Given the description of an element on the screen output the (x, y) to click on. 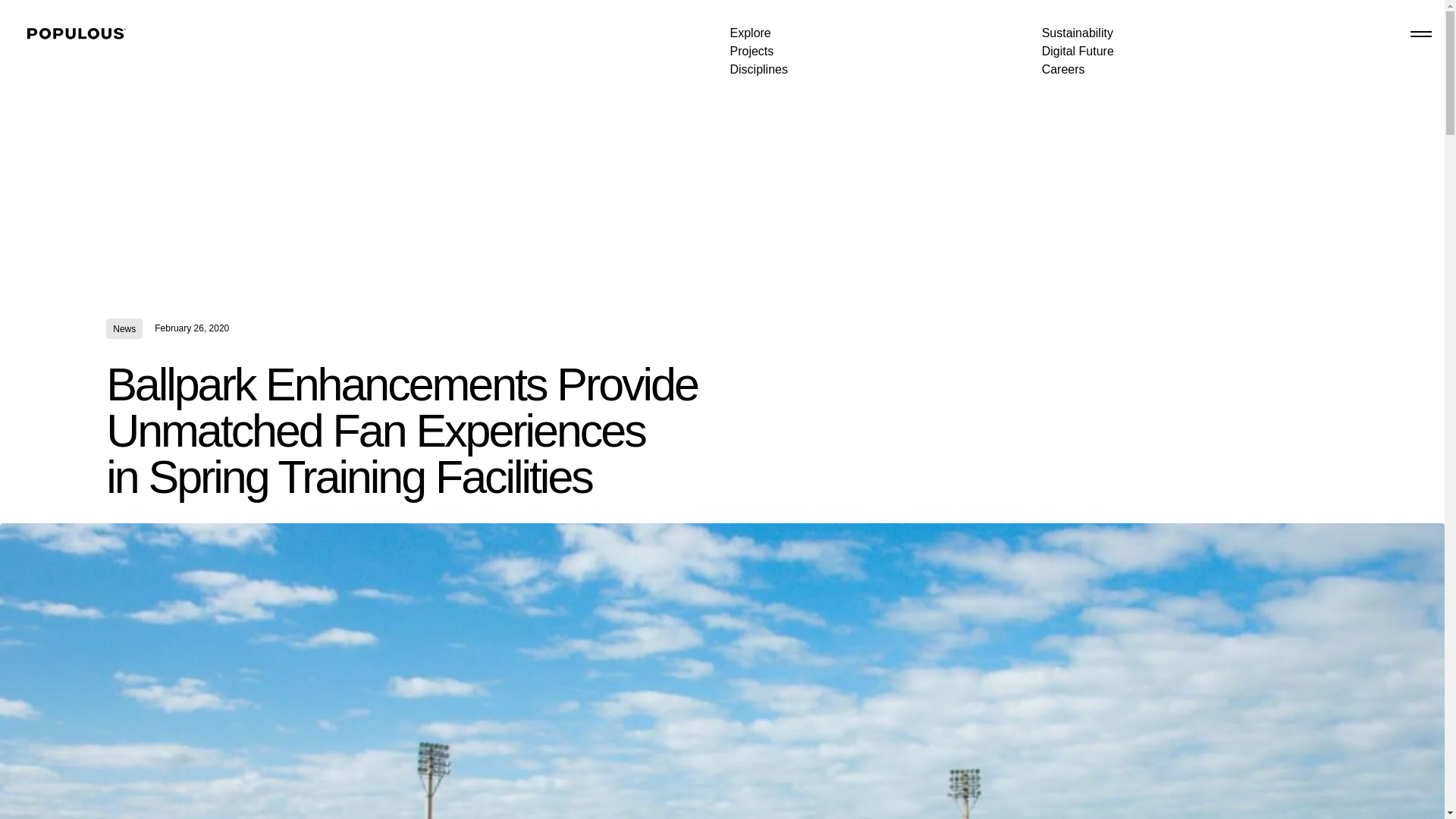
Digital Future (1077, 56)
News (124, 328)
Careers (1063, 79)
Disciplines (758, 77)
Projects (751, 55)
Explore (749, 34)
Sustainability (1077, 35)
News (124, 328)
February 26, 2020 (191, 328)
